Given the description of an element on the screen output the (x, y) to click on. 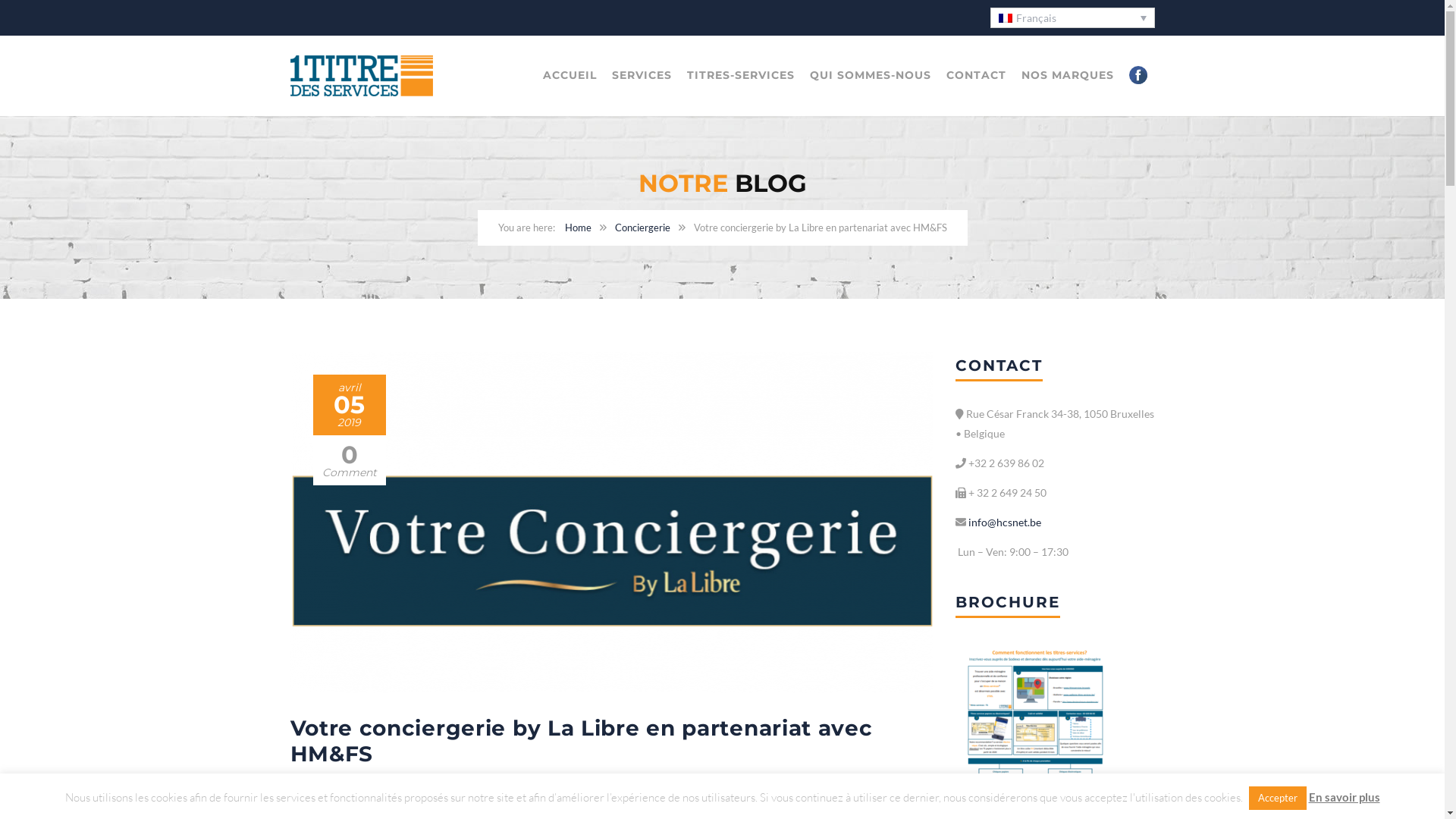
NOS MARQUES Element type: text (1066, 75)
CONTACT Element type: text (976, 75)
TITRES-SERVICES Element type: text (740, 75)
Conciergerie Element type: text (515, 786)
info@hcsnet.be Element type: text (1003, 521)
ACCUEIL Element type: text (569, 75)
Accepter Element type: text (1276, 797)
En savoir plus Element type: text (1344, 797)
Conciergerie Element type: text (641, 227)
SERVICES Element type: text (641, 75)
QUI SOMMES-NOUS Element type: text (870, 75)
Home Element type: text (577, 227)
